Given the description of an element on the screen output the (x, y) to click on. 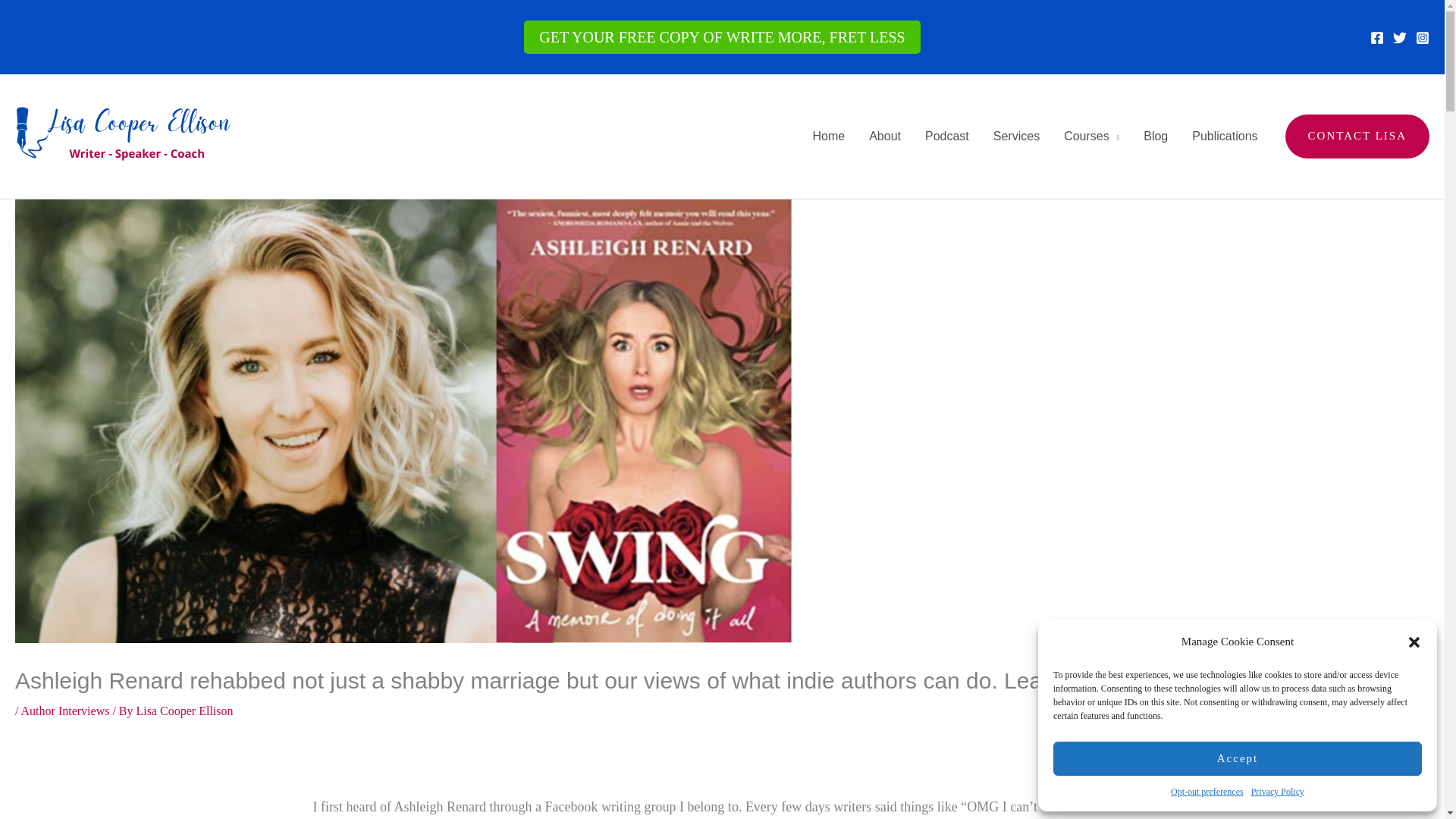
About (884, 135)
Blog (1155, 135)
View all posts by Lisa Cooper Ellison (184, 710)
CONTACT LISA (1357, 136)
Services (1016, 135)
Podcast (946, 135)
GET YOUR FREE COPY OF WRITE MORE, FRET LESS (722, 37)
Opt-out preferences (1206, 791)
Accept (1237, 758)
Home (828, 135)
